Given the description of an element on the screen output the (x, y) to click on. 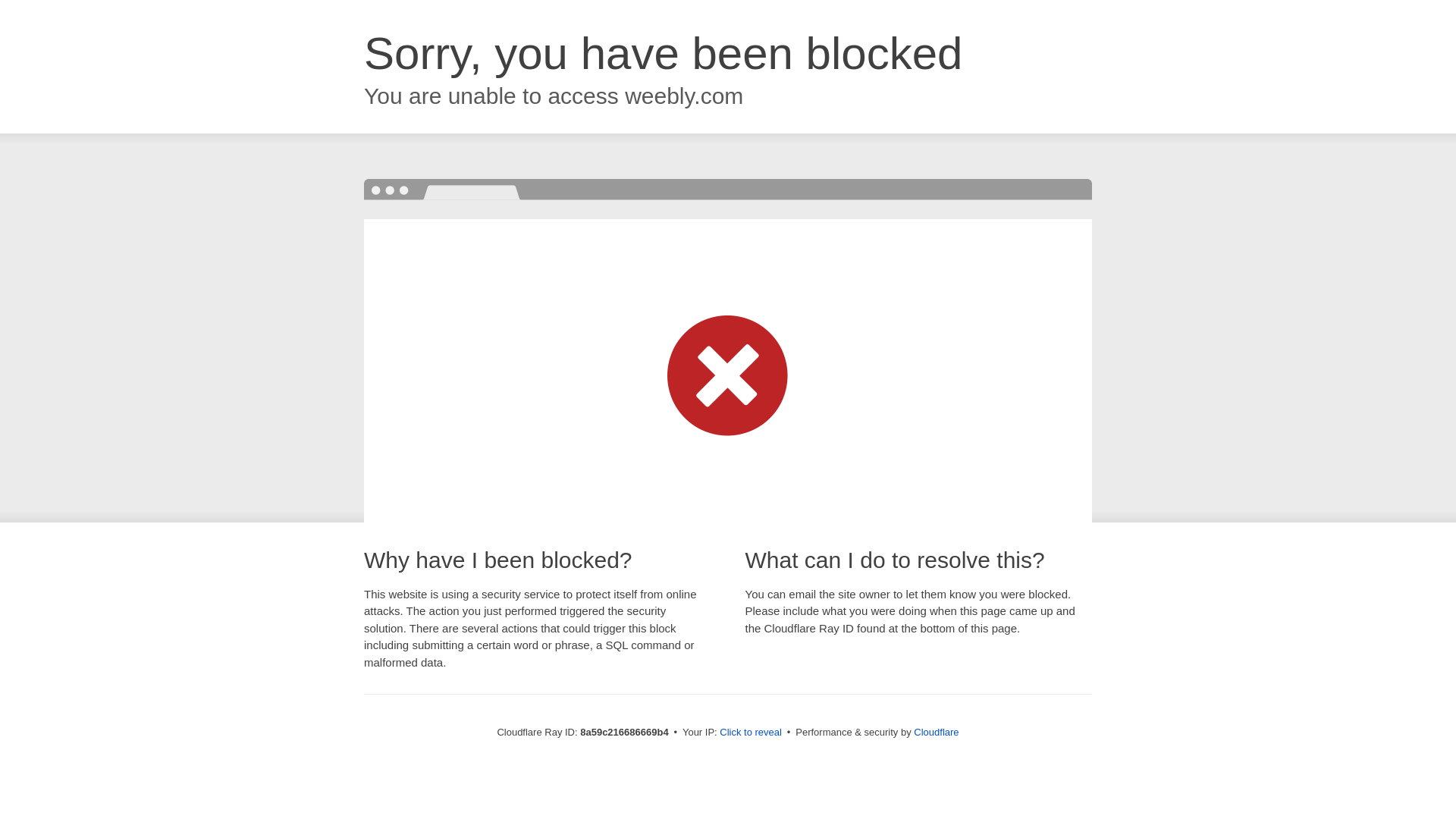
Cloudflare (936, 731)
Click to reveal (750, 732)
